Given the description of an element on the screen output the (x, y) to click on. 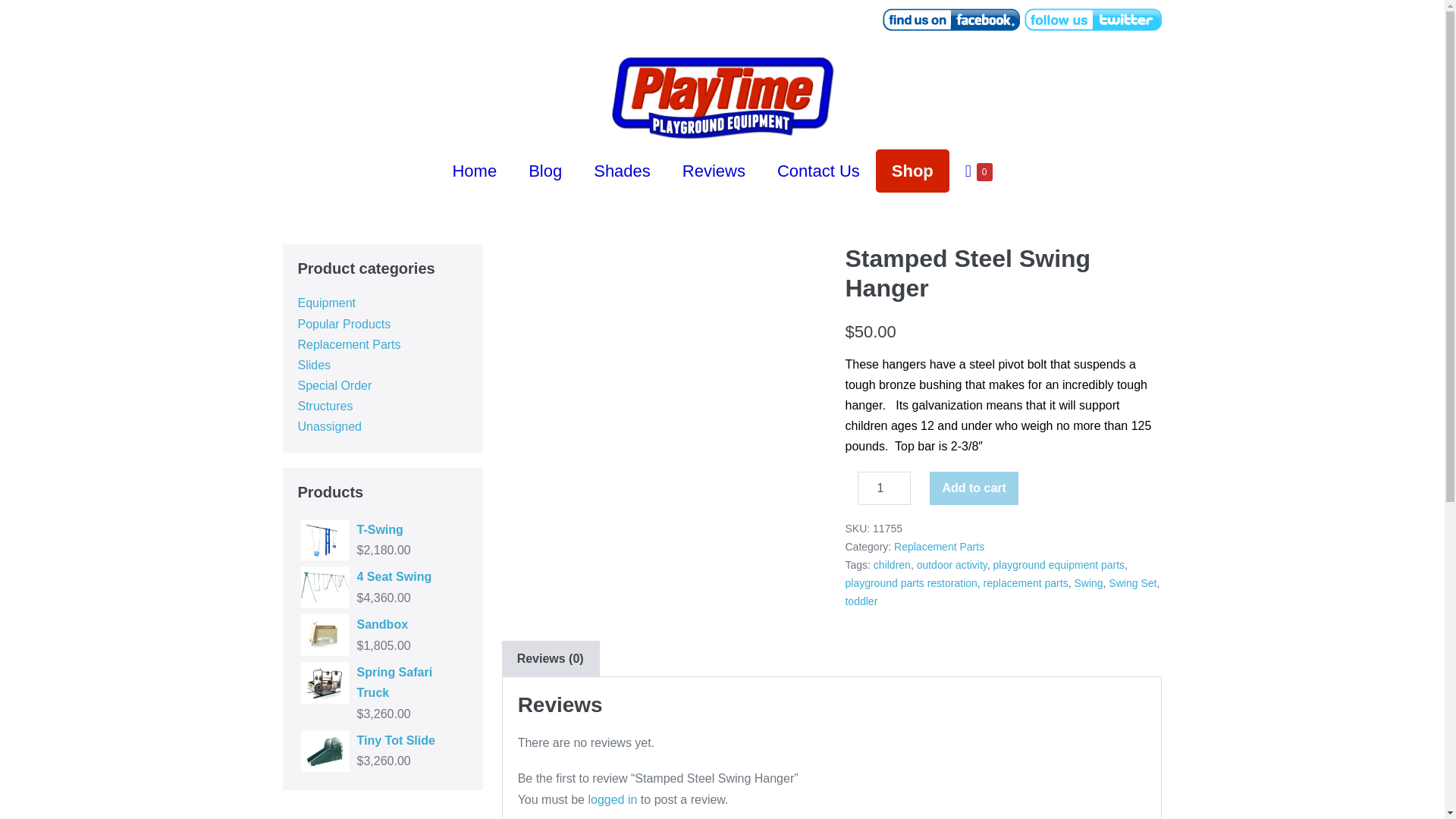
1 (884, 488)
children (892, 564)
Equipment (326, 302)
Shop (912, 170)
Contact Us (818, 170)
Spring Safari Truck (382, 681)
Special Order (334, 385)
Unassigned (329, 426)
Replacement Parts (938, 546)
Slides (313, 364)
